Given the description of an element on the screen output the (x, y) to click on. 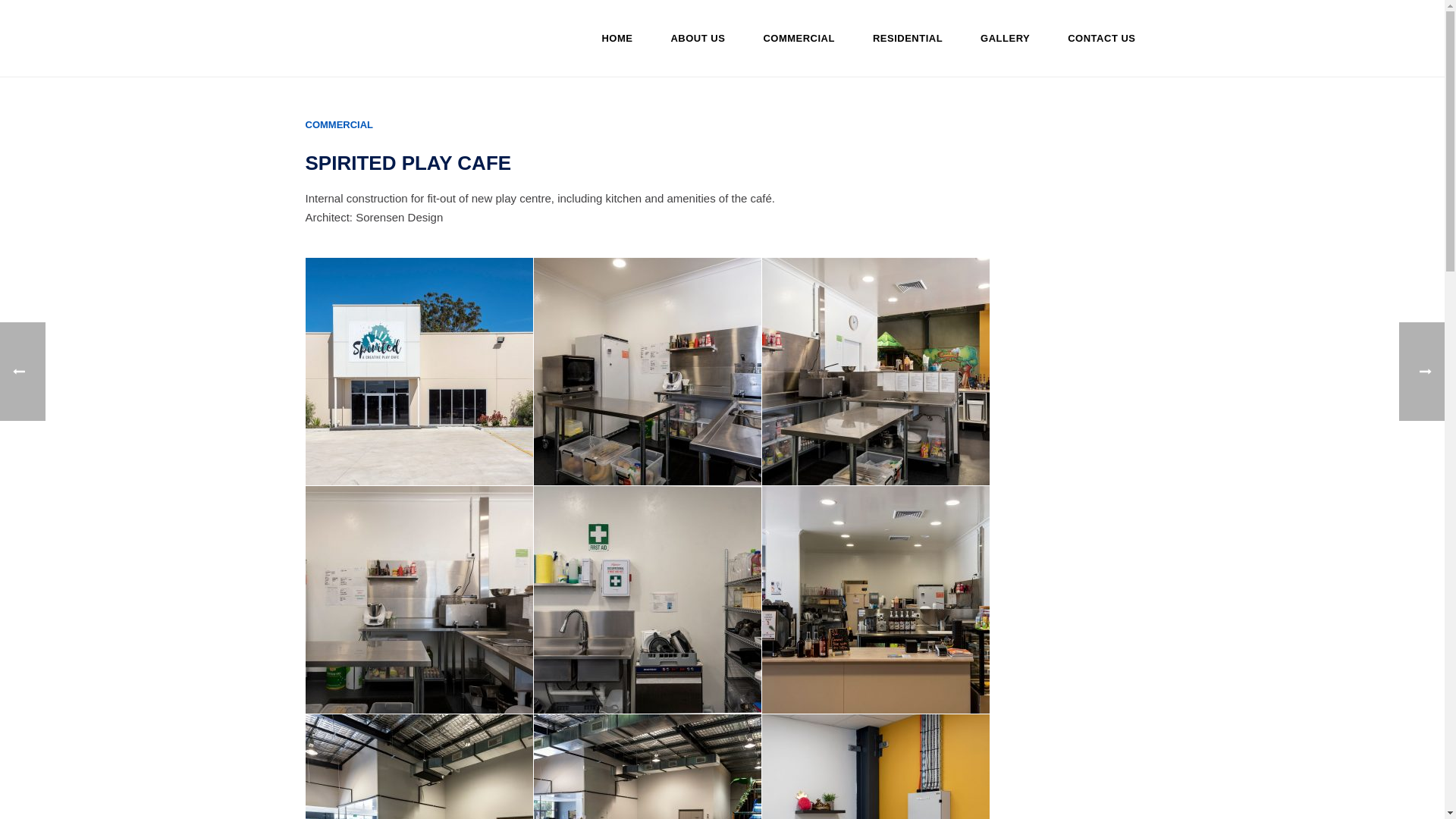
013-jt-20181120-0455-modifier-modifier Element type: hover (874, 599)
017-jt-20181120-0422-modifier-modifier Element type: hover (647, 371)
CONTACT US Element type: text (1101, 38)
014-jt-20181120-0415-modifier-modifier Element type: hover (647, 599)
001-jt-20181120-0683-modifier-modifier Element type: hover (418, 371)
COMMERCIAL Element type: text (798, 38)
ABOUT US Element type: text (697, 38)
HOME Element type: text (616, 38)
RESIDENTIAL Element type: text (907, 38)
016-jt-20181120-0440-modifier-modifier Element type: hover (874, 371)
COMMERCIAL Element type: text (338, 124)
GALLERY Element type: text (1004, 38)
015-jt-20181120-0432-modifier-modifier Element type: hover (418, 599)
